Given the description of an element on the screen output the (x, y) to click on. 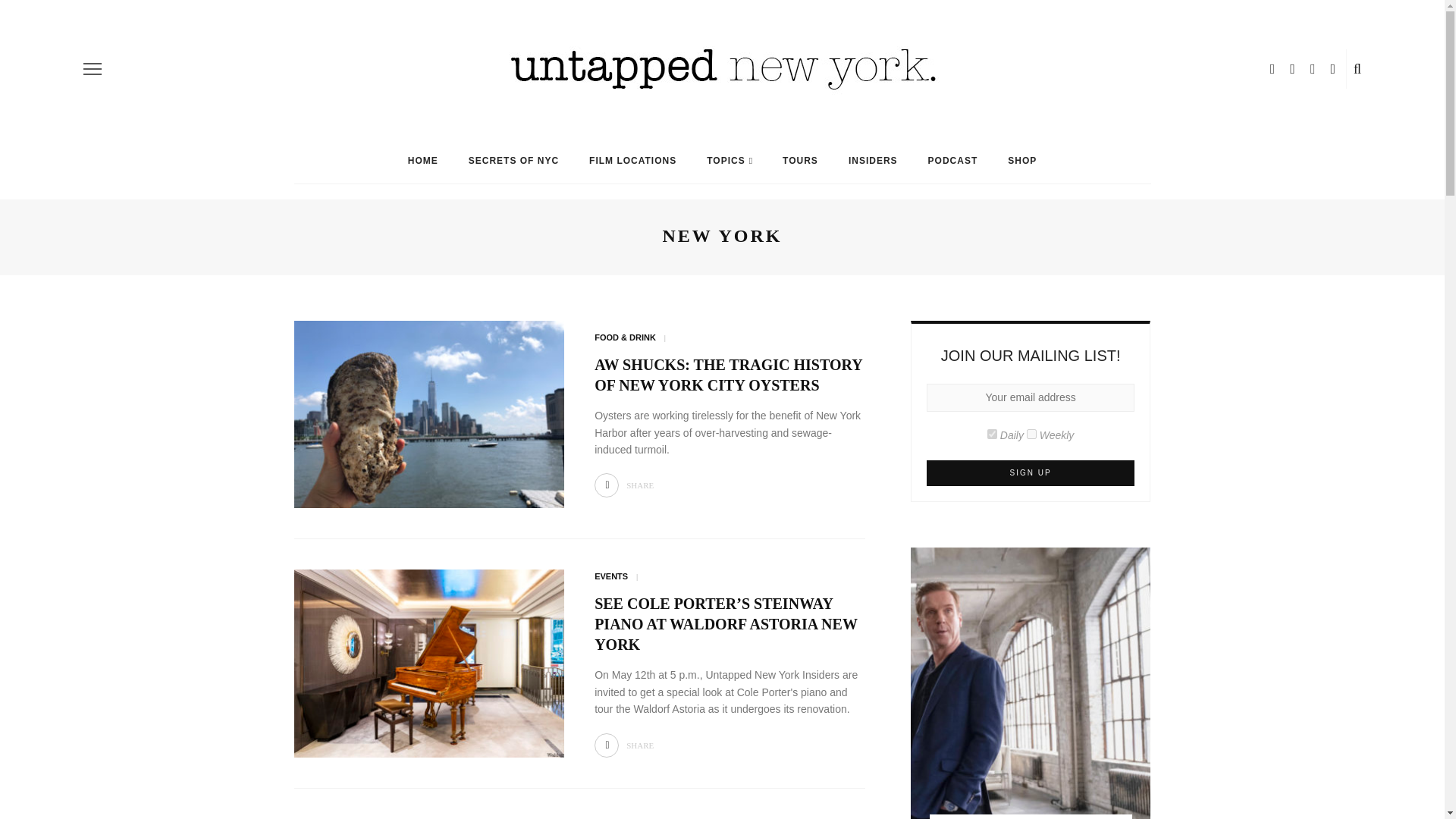
Aw Shucks: The Tragic History of New York City Oysters (429, 413)
Sign up (1030, 473)
7cff6a70fd (1031, 433)
off canvas button (91, 68)
e99a09560c (992, 433)
